Given the description of an element on the screen output the (x, y) to click on. 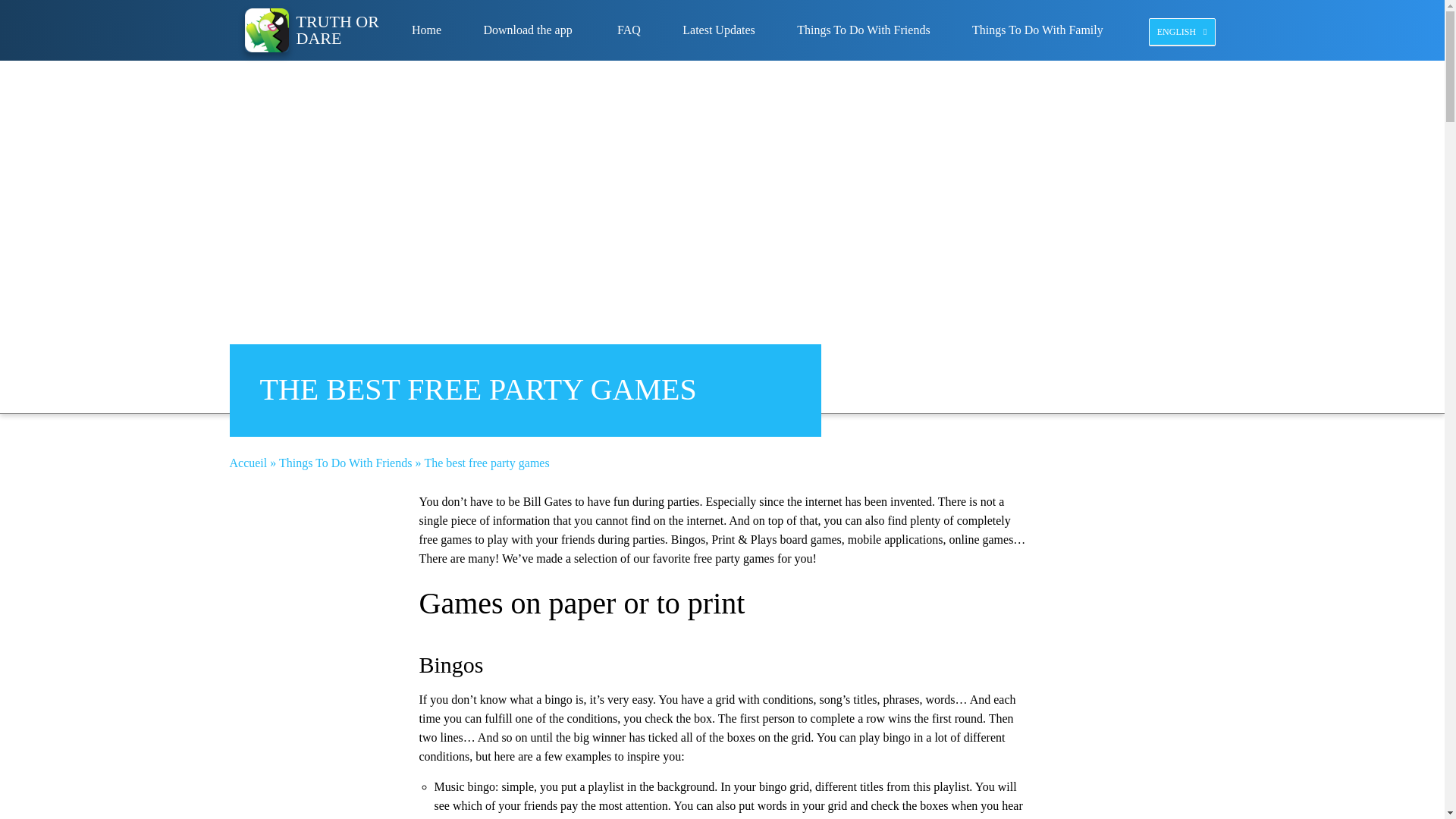
Things To Do With Friends (863, 30)
Things To Do With Family (1037, 30)
TRUTH OR DARE  (309, 30)
Latest Updates (718, 30)
Download the app  (529, 30)
Accueil (247, 462)
FAQ (628, 30)
Things To Do With Friends (345, 462)
Home (426, 30)
